Given the description of an element on the screen output the (x, y) to click on. 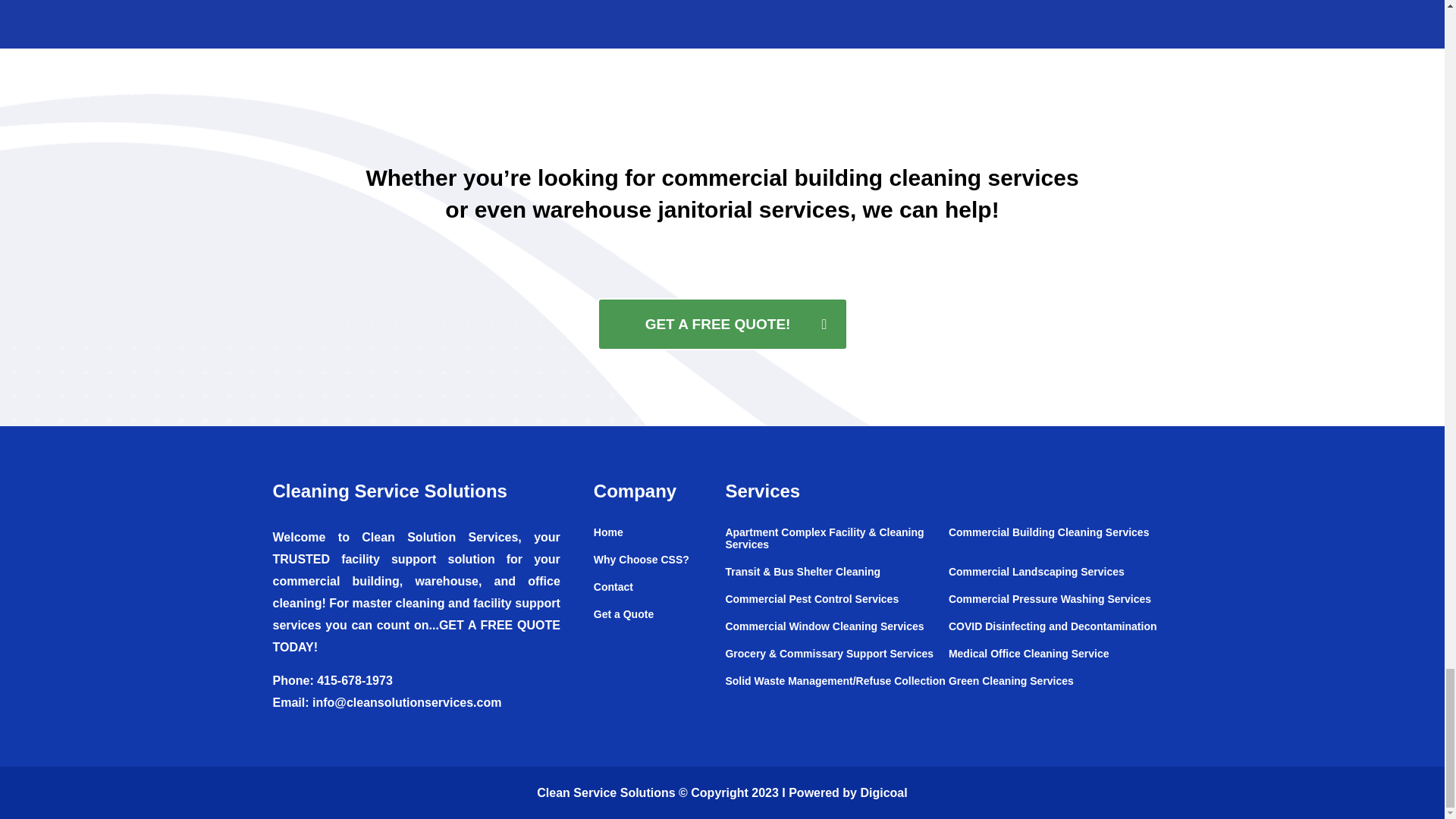
GET A FREE QUOTE! (721, 324)
Why Choose CSS? (650, 566)
Contact (650, 594)
Commercial Pest Control Services (836, 605)
Commercial Pressure Washing Services (1060, 605)
Commercial Window Cleaning Services (836, 633)
415-678-1973 (355, 680)
Get a Quote (650, 613)
Commercial Landscaping Services (1060, 578)
GET A FREE QUOTE TODAY! (416, 636)
Home (650, 539)
Commercial Building Cleaning Services (1060, 539)
